Given the description of an element on the screen output the (x, y) to click on. 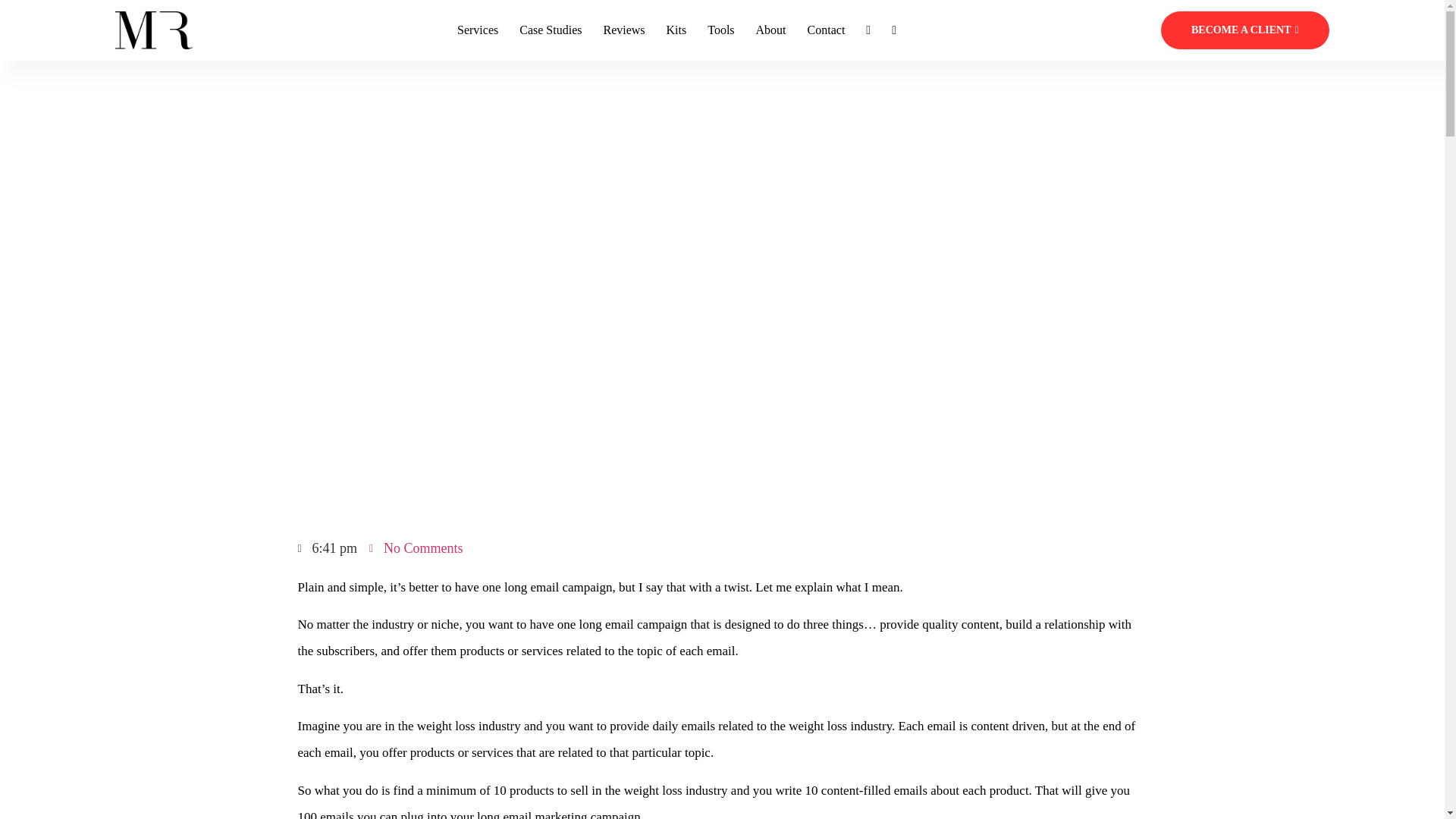
Case Studies (549, 30)
Services (477, 30)
Reviews (623, 30)
